Given the description of an element on the screen output the (x, y) to click on. 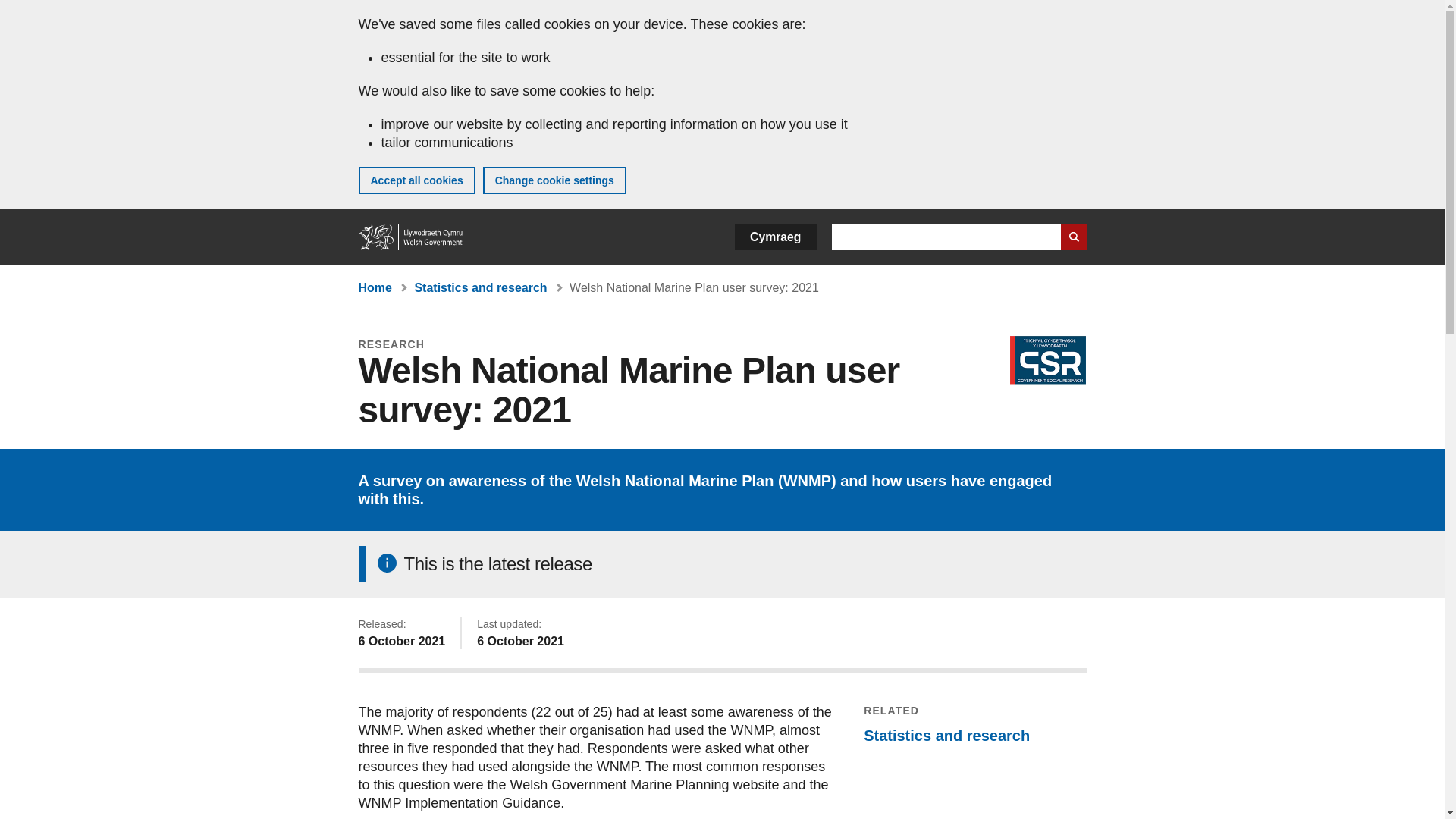
Change cookie settings (554, 180)
Welsh Government (411, 237)
Statistics and research (946, 735)
Search website (1072, 237)
Home (374, 287)
Accept all cookies (416, 180)
Statistics and research (480, 287)
Welsh National Marine Plan user survey: 2021 (693, 287)
Search website (1072, 237)
Skip to main content (22, 11)
Home (411, 237)
Cymraeg (775, 237)
